Given the description of an element on the screen output the (x, y) to click on. 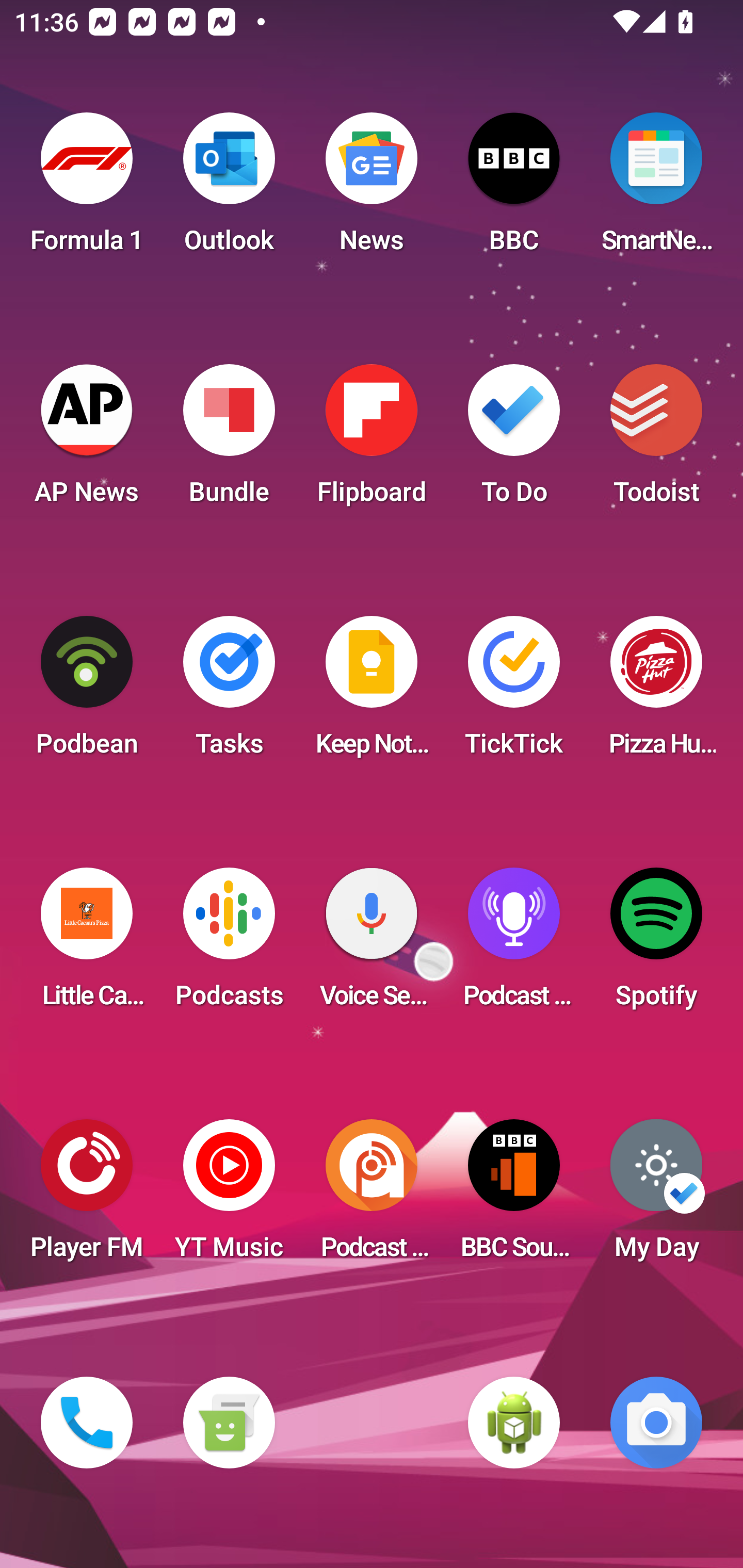
Formula 1 (86, 188)
Outlook (228, 188)
News (371, 188)
BBC (513, 188)
SmartNews (656, 188)
AP News (86, 440)
Bundle (228, 440)
Flipboard (371, 440)
To Do (513, 440)
Todoist (656, 440)
Podbean (86, 692)
Tasks (228, 692)
Keep Notes (371, 692)
TickTick (513, 692)
Pizza Hut HK & Macau (656, 692)
Little Caesars Pizza (86, 943)
Podcasts (228, 943)
Voice Search (371, 943)
Podcast Player (513, 943)
Spotify (656, 943)
Player FM (86, 1195)
YT Music (228, 1195)
Podcast Addict (371, 1195)
BBC Sounds (513, 1195)
My Day (656, 1195)
Phone (86, 1422)
Messaging (228, 1422)
WebView Browser Tester (513, 1422)
Camera (656, 1422)
